Given the description of an element on the screen output the (x, y) to click on. 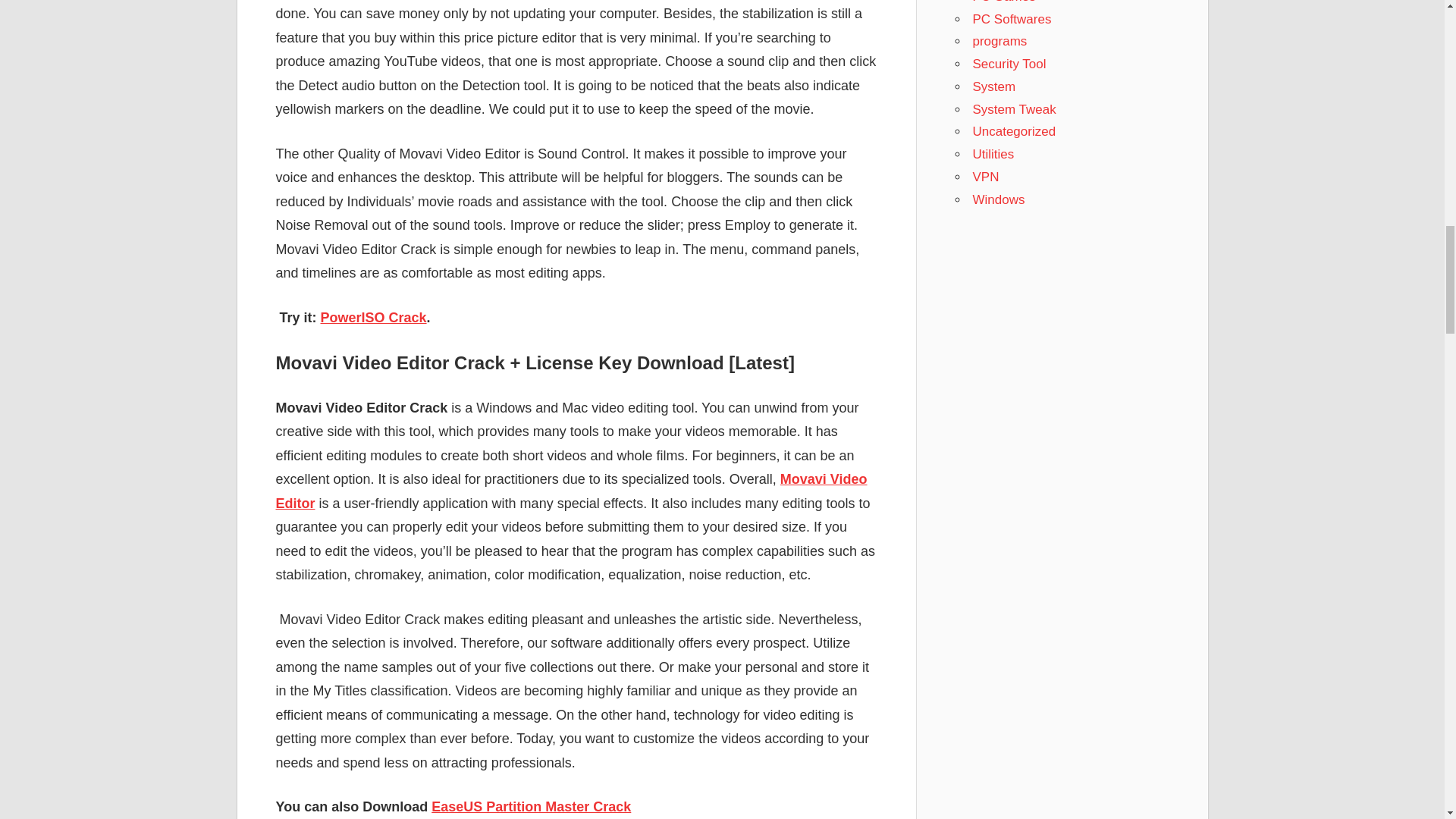
Movavi Video Editor (571, 491)
PowerISO Crack (373, 317)
EaseUS Partition Master Crack (530, 806)
